Given the description of an element on the screen output the (x, y) to click on. 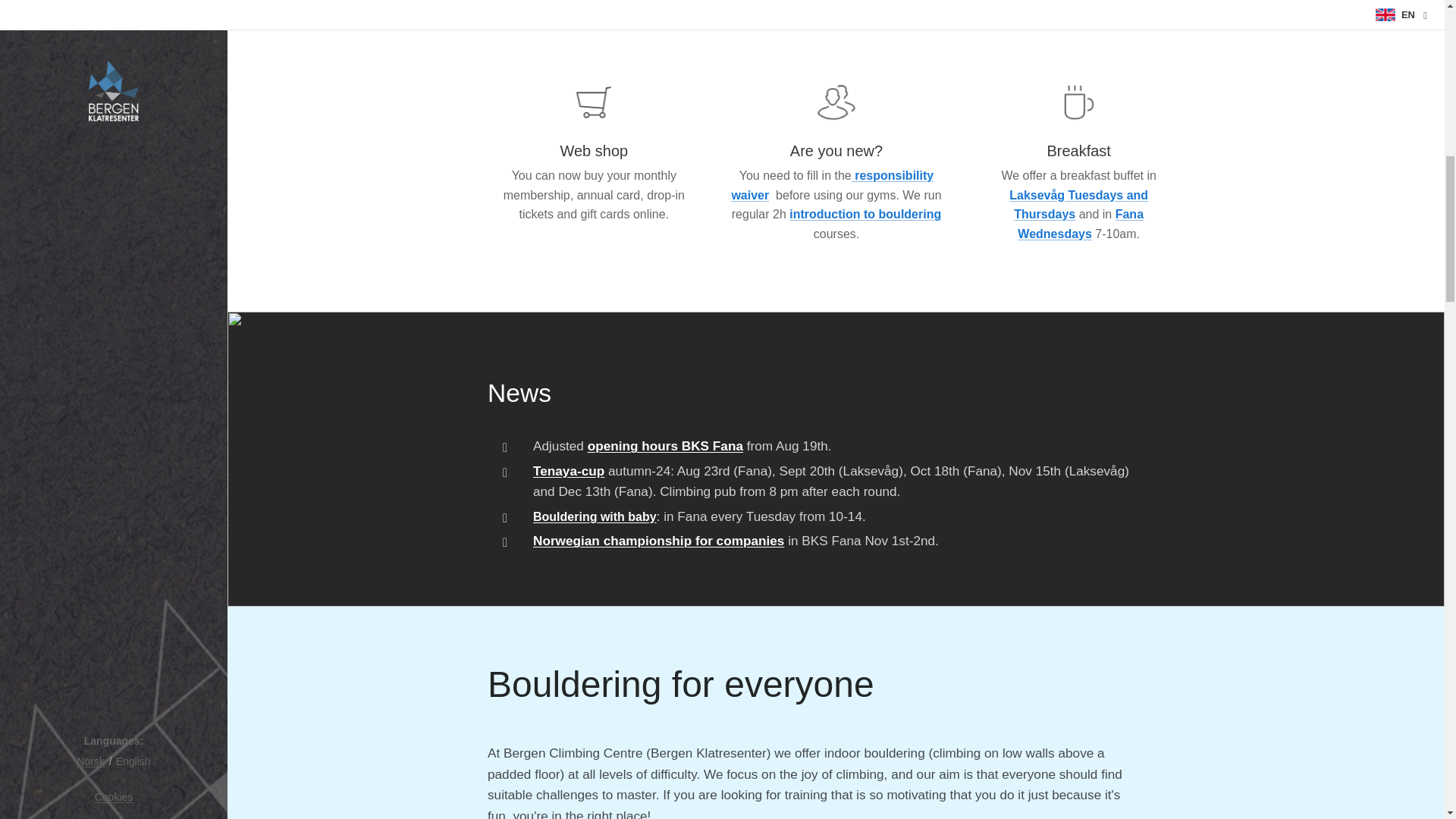
 responsibility waiver (831, 184)
Tenaya-cup (568, 470)
introduction to bouldering (864, 214)
Norwegian championship for companies (657, 540)
opening hours BKS Fana (664, 446)
Bouldering with baby (594, 516)
Fana Wednesdays (1079, 224)
